Given the description of an element on the screen output the (x, y) to click on. 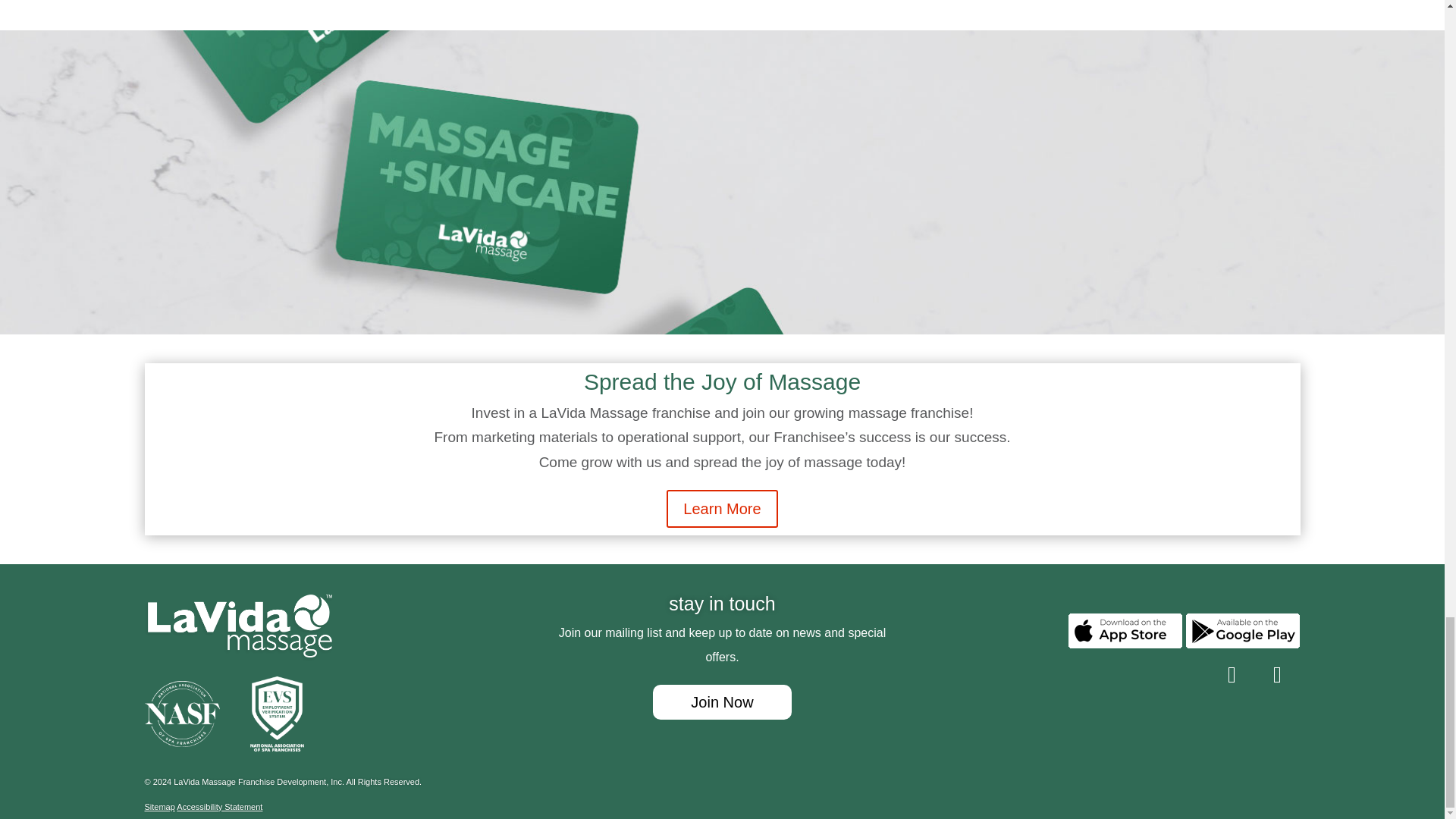
Follow on Facebook (1276, 674)
Follow on Instagram (1230, 674)
